Given the description of an element on the screen output the (x, y) to click on. 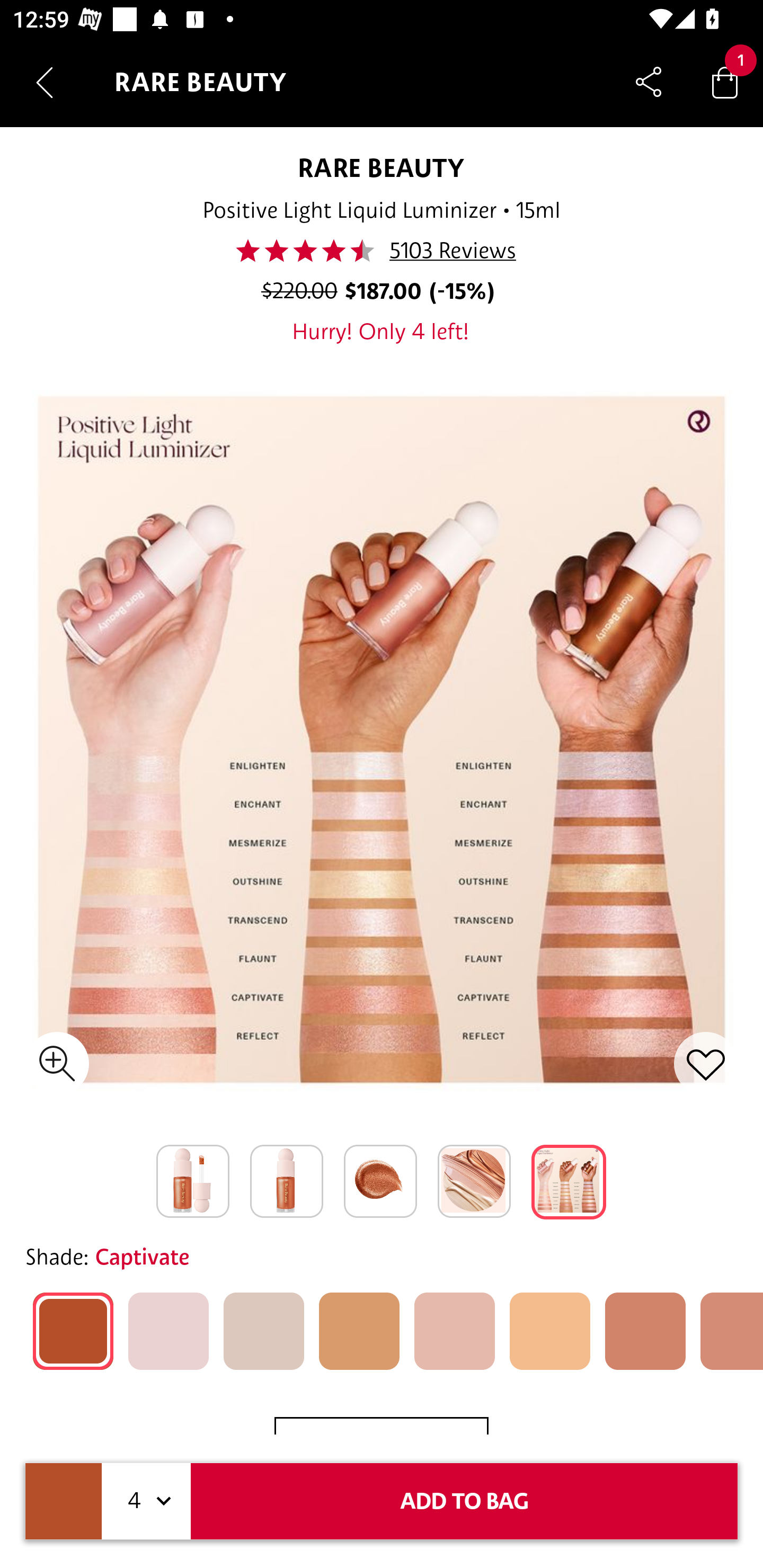
Navigate up (44, 82)
Share (648, 81)
Bag (724, 81)
RARE BEAUTY (381, 167)
45.0 5103 Reviews (380, 250)
4 (145, 1500)
ADD TO BAG (463, 1500)
